Given the description of an element on the screen output the (x, y) to click on. 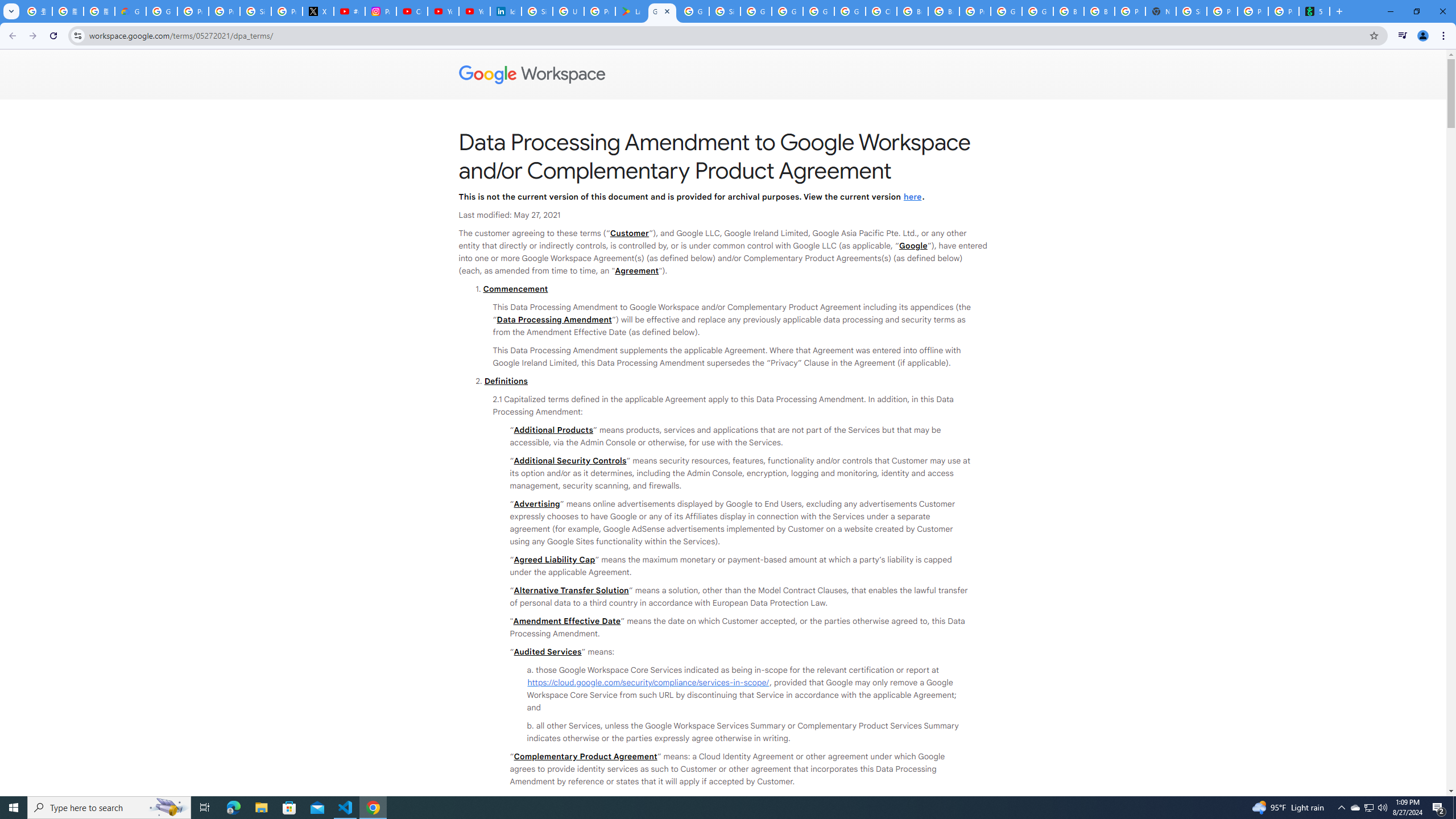
Browse Chrome as a guest - Computer - Google Chrome Help (1068, 11)
New Tab (1160, 11)
Sign in - Google Accounts (724, 11)
Privacy Help Center - Policies Help (223, 11)
X (318, 11)
